Given the description of an element on the screen output the (x, y) to click on. 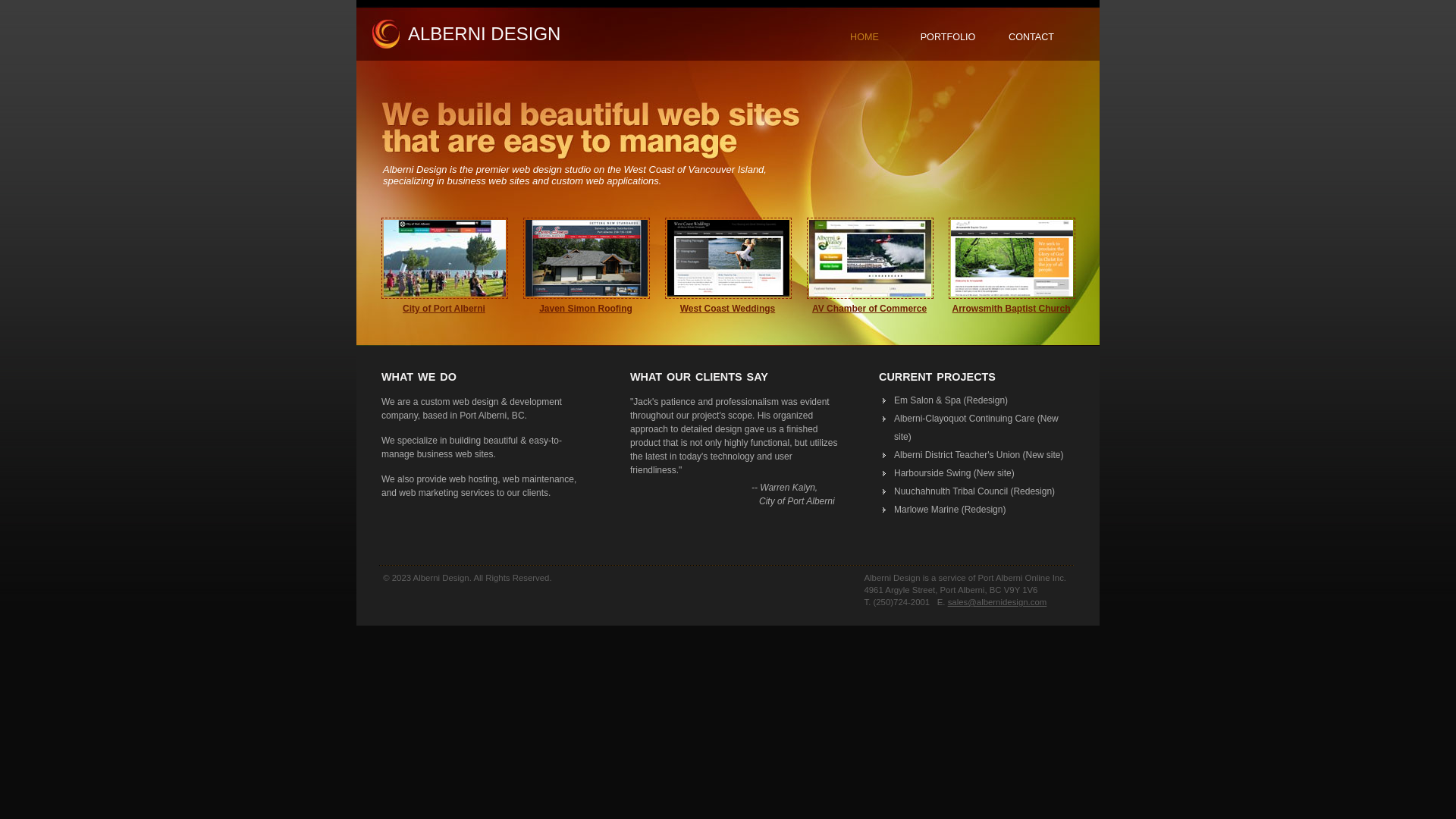
AV Chamber of Commerce Element type: text (869, 308)
Javen Simon Roofing Element type: text (585, 308)
Arrowsmith Baptist Church Element type: text (1010, 308)
CONTACT Element type: text (1031, 36)
HOME Element type: text (864, 36)
City of Port Alberni Element type: text (443, 308)
PORTFOLIO Element type: text (947, 36)
ALBERNI DESIGN Element type: text (483, 33)
sales@albernidesign.com Element type: text (997, 601)
West Coast Weddings Element type: text (727, 308)
